Given the description of an element on the screen output the (x, y) to click on. 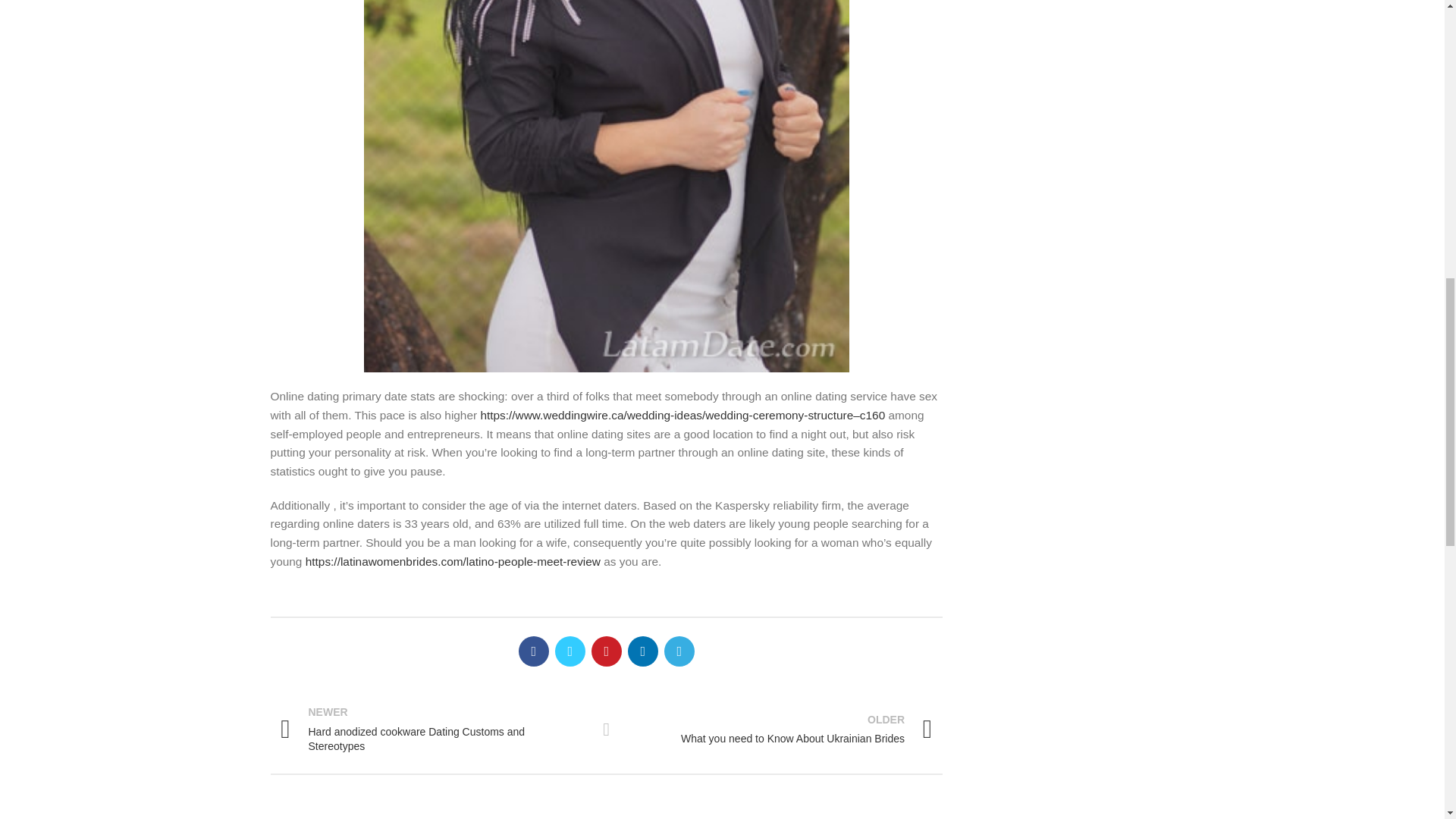
Back to list (779, 728)
